Given the description of an element on the screen output the (x, y) to click on. 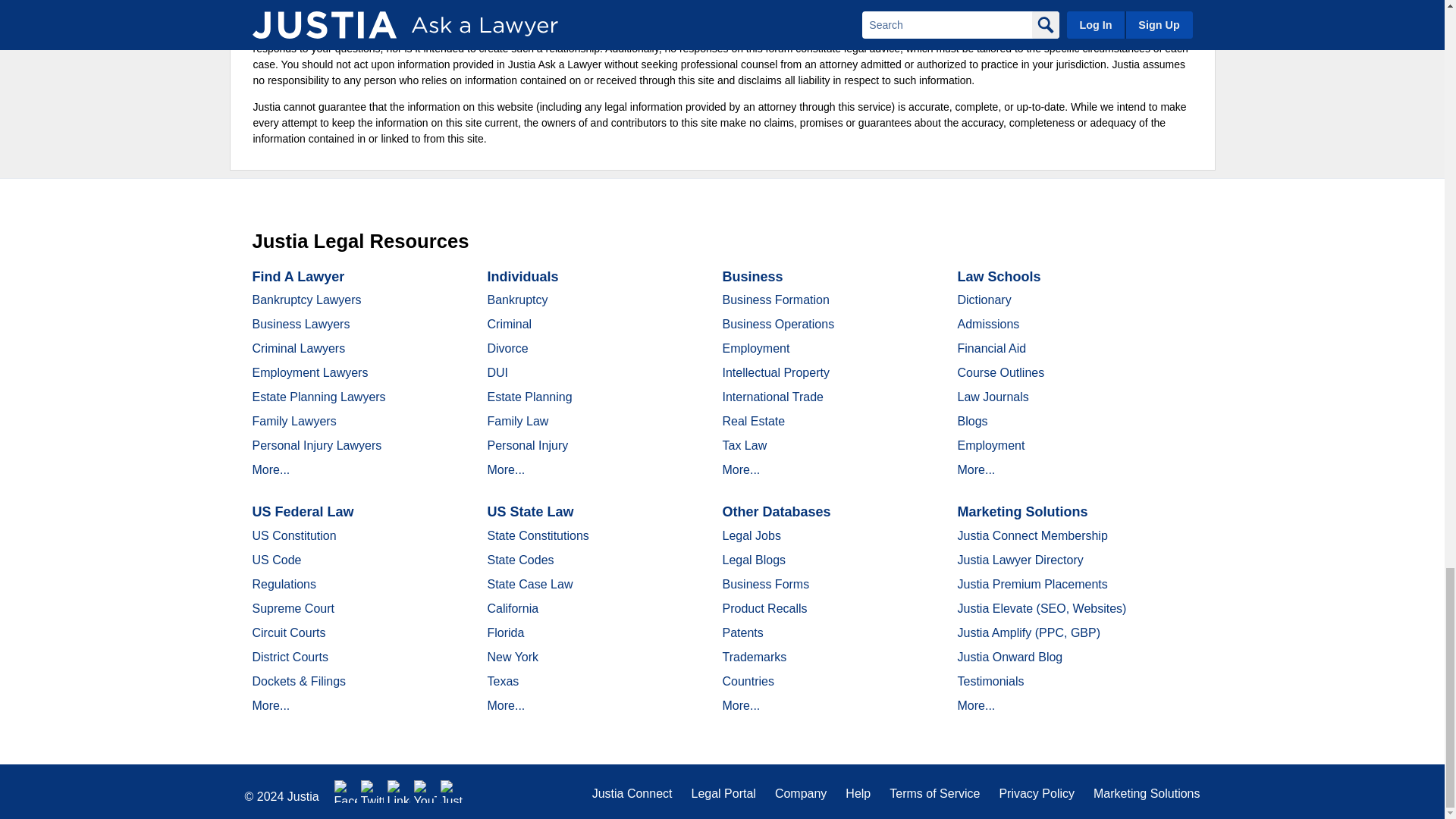
LinkedIn (398, 791)
Facebook (345, 791)
YouTube (424, 791)
Justia Lawyer Directory (452, 791)
Twitter (372, 791)
